Given the description of an element on the screen output the (x, y) to click on. 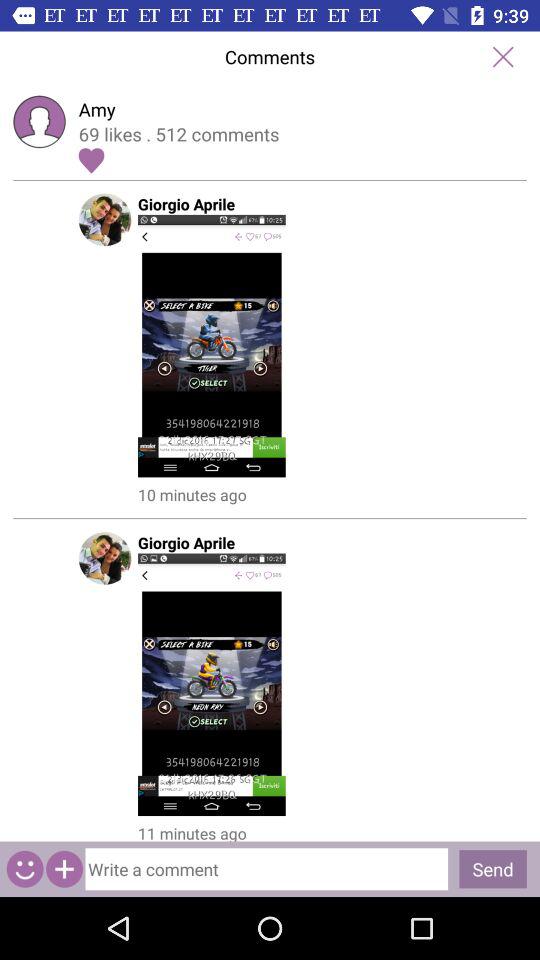
close comments (502, 56)
